Given the description of an element on the screen output the (x, y) to click on. 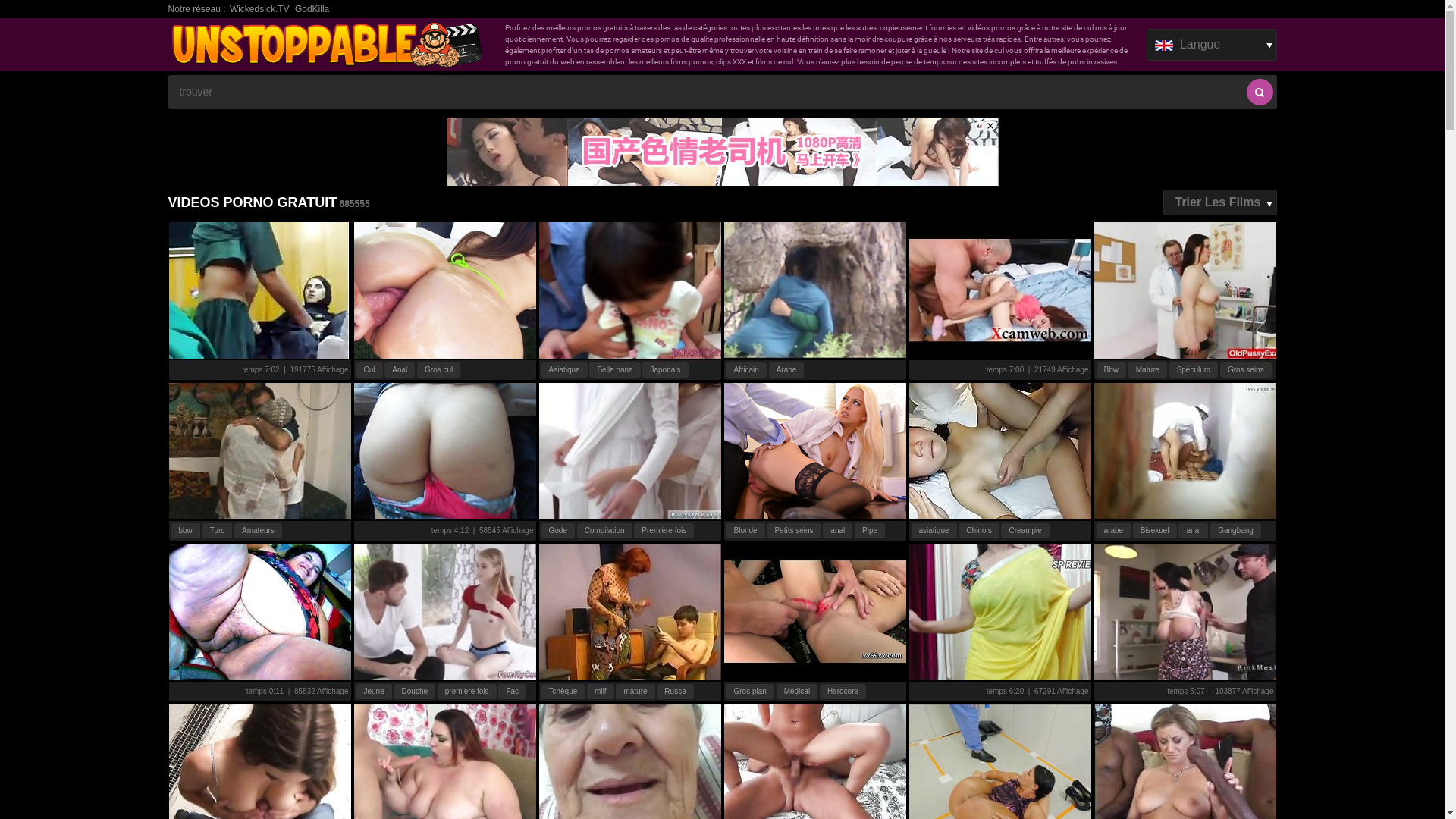
Asiatique Element type: text (564, 369)
Fac Element type: text (512, 691)
Creampie Element type: text (1024, 530)
Russe Element type: text (674, 691)
Japonais Element type: text (664, 369)
Bbw Element type: text (1111, 369)
Douche Element type: text (414, 691)
Hardcore Element type: text (842, 691)
mature Element type: text (634, 691)
arabe Element type: text (1113, 530)
Wickedsick.TV Element type: text (259, 8)
Arabe Element type: text (786, 369)
anal Element type: text (837, 530)
Blonde Element type: text (745, 530)
Chinois Element type: text (978, 530)
Belle nana Element type: text (614, 369)
Amateurs Element type: text (258, 530)
Anal Element type: text (399, 369)
Bisexuel Element type: text (1154, 530)
GodKilla Element type: text (311, 8)
Compilation Element type: text (604, 530)
Turc Element type: text (217, 530)
Africain Element type: text (746, 369)
milf Element type: text (600, 691)
anal Element type: text (1193, 530)
Medical Element type: text (796, 691)
Gangbang Element type: text (1235, 530)
asiatique Element type: text (934, 530)
recherche Element type: text (1259, 91)
Mature Element type: text (1147, 369)
Gros seins Element type: text (1245, 369)
bbw Element type: text (185, 530)
Gros plan Element type: text (750, 691)
Petits seins Element type: text (793, 530)
Gros cul Element type: text (438, 369)
Pipe Element type: text (869, 530)
Jeune Element type: text (374, 691)
Gode Element type: text (557, 530)
Cul Element type: text (369, 369)
